Given the description of an element on the screen output the (x, y) to click on. 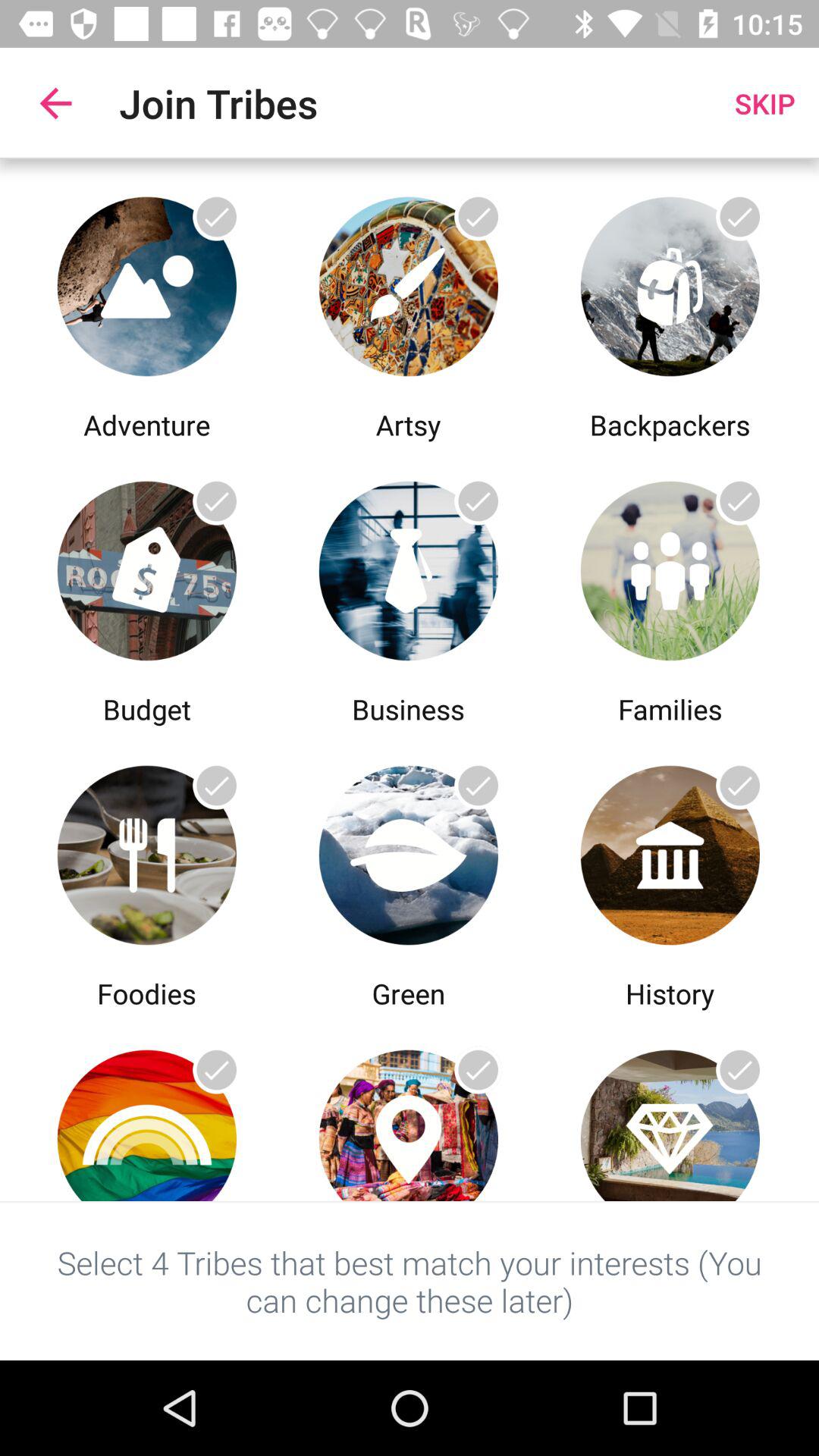
select the business (408, 566)
